Given the description of an element on the screen output the (x, y) to click on. 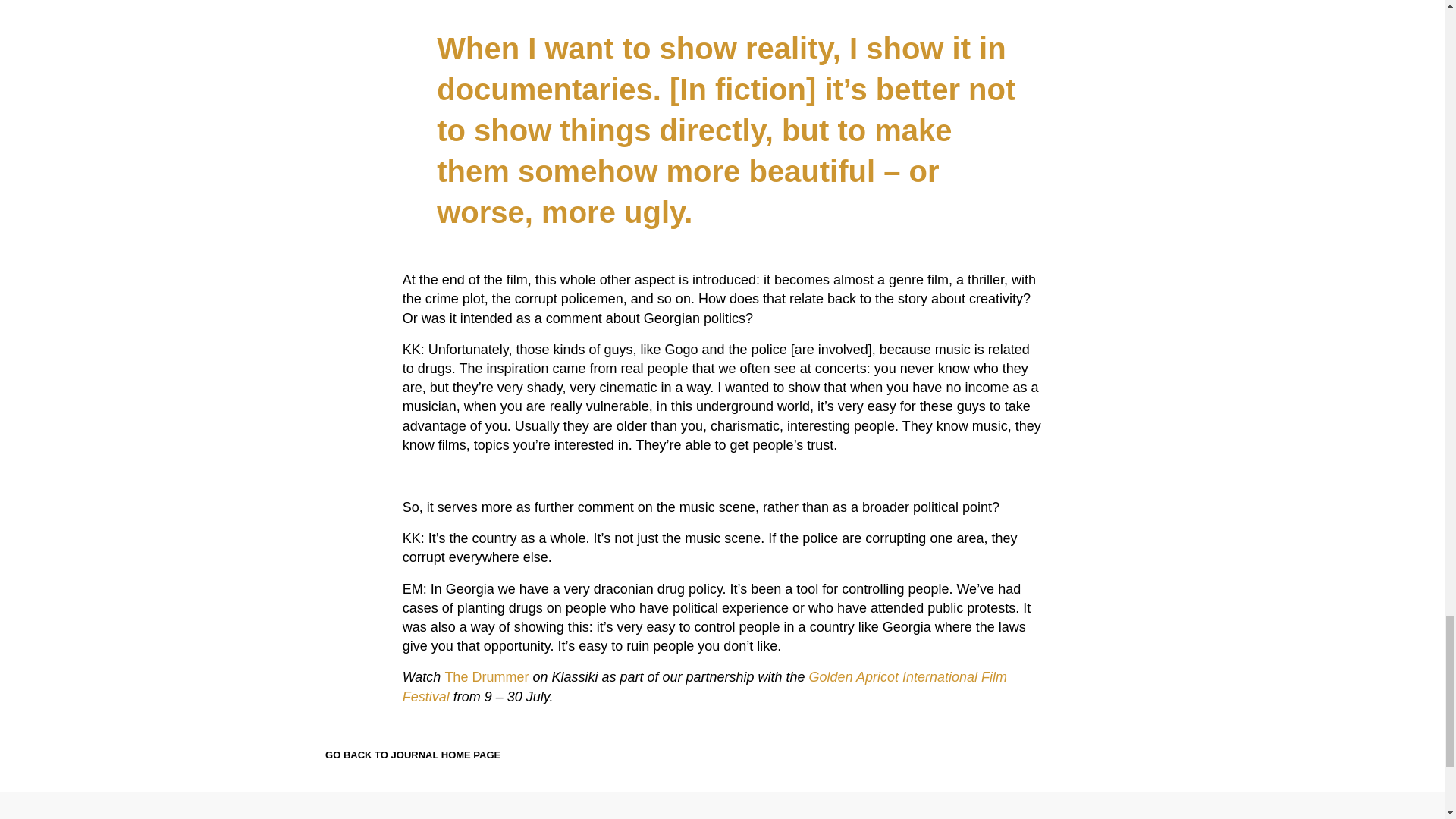
Golden Apricot International Film Festival (705, 686)
The Drummer (486, 676)
GO BACK TO JOURNAL HOME PAGE (400, 754)
